Given the description of an element on the screen output the (x, y) to click on. 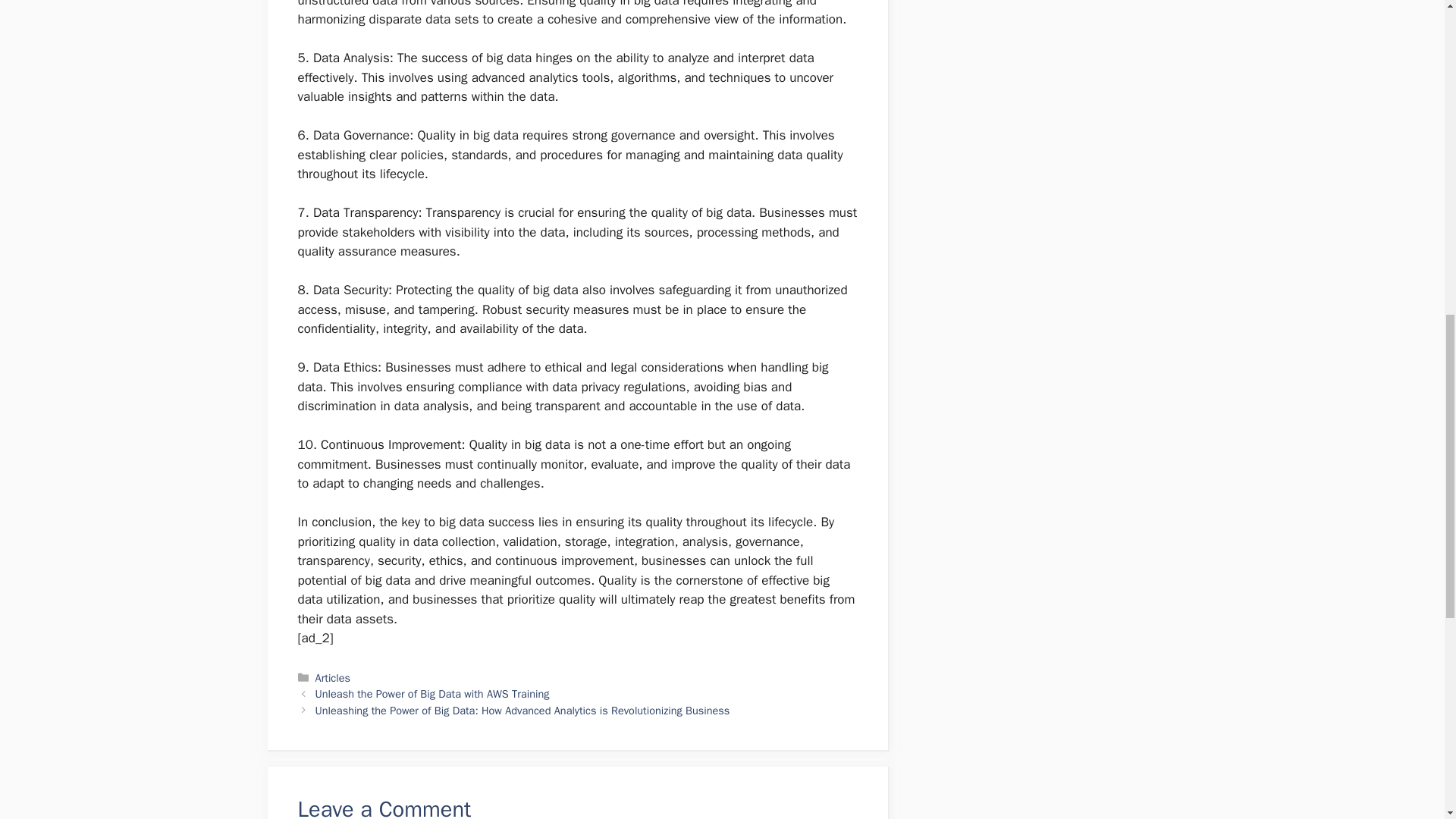
Articles (332, 677)
Unleash the Power of Big Data with AWS Training (432, 694)
